Given the description of an element on the screen output the (x, y) to click on. 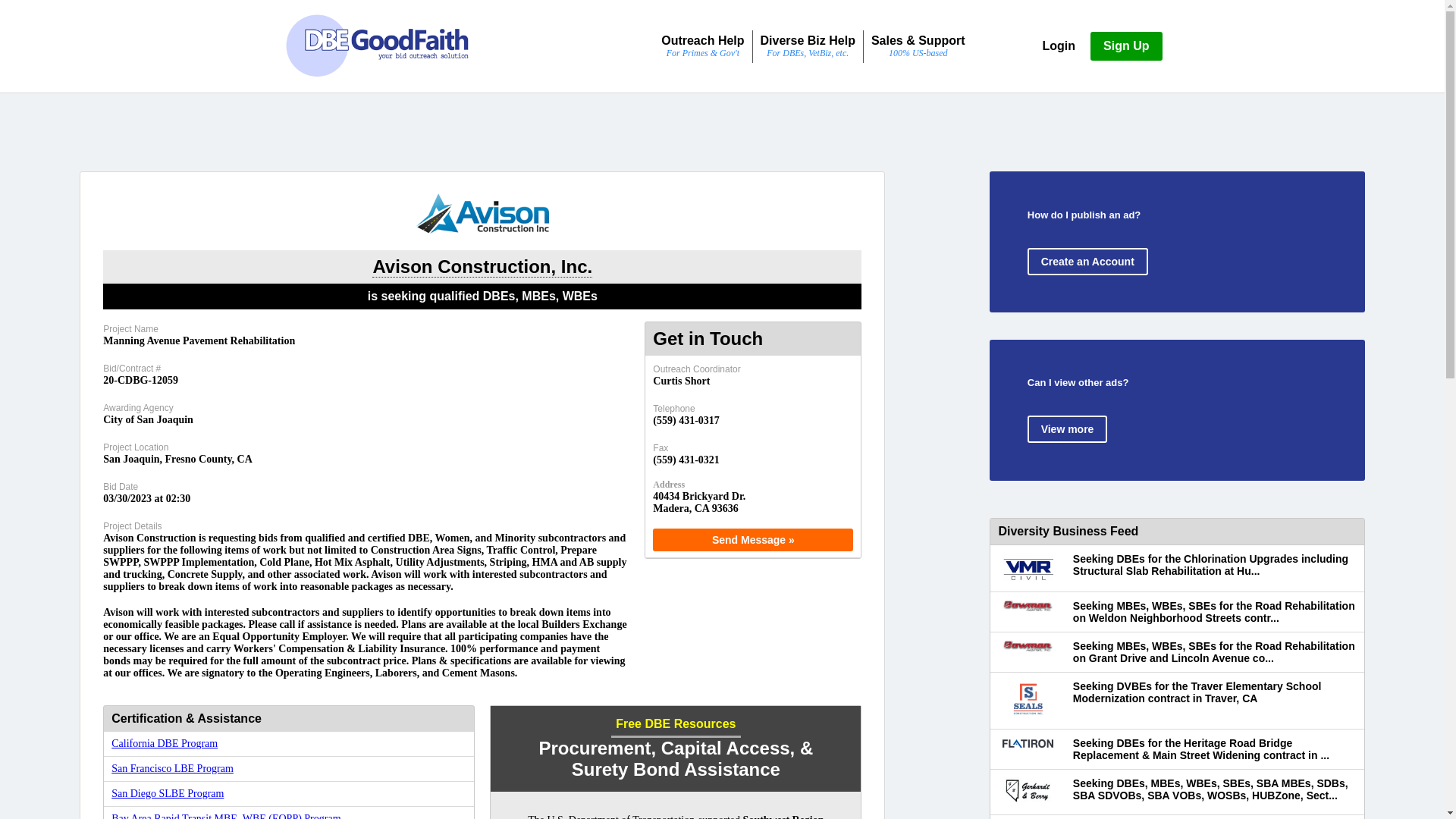
Company Logo (482, 213)
DBEGoodFaith.com (376, 45)
Sign Up (1125, 45)
Avison Construction, Inc. (482, 266)
Login (1058, 45)
California DBE Program (164, 743)
